Given the description of an element on the screen output the (x, y) to click on. 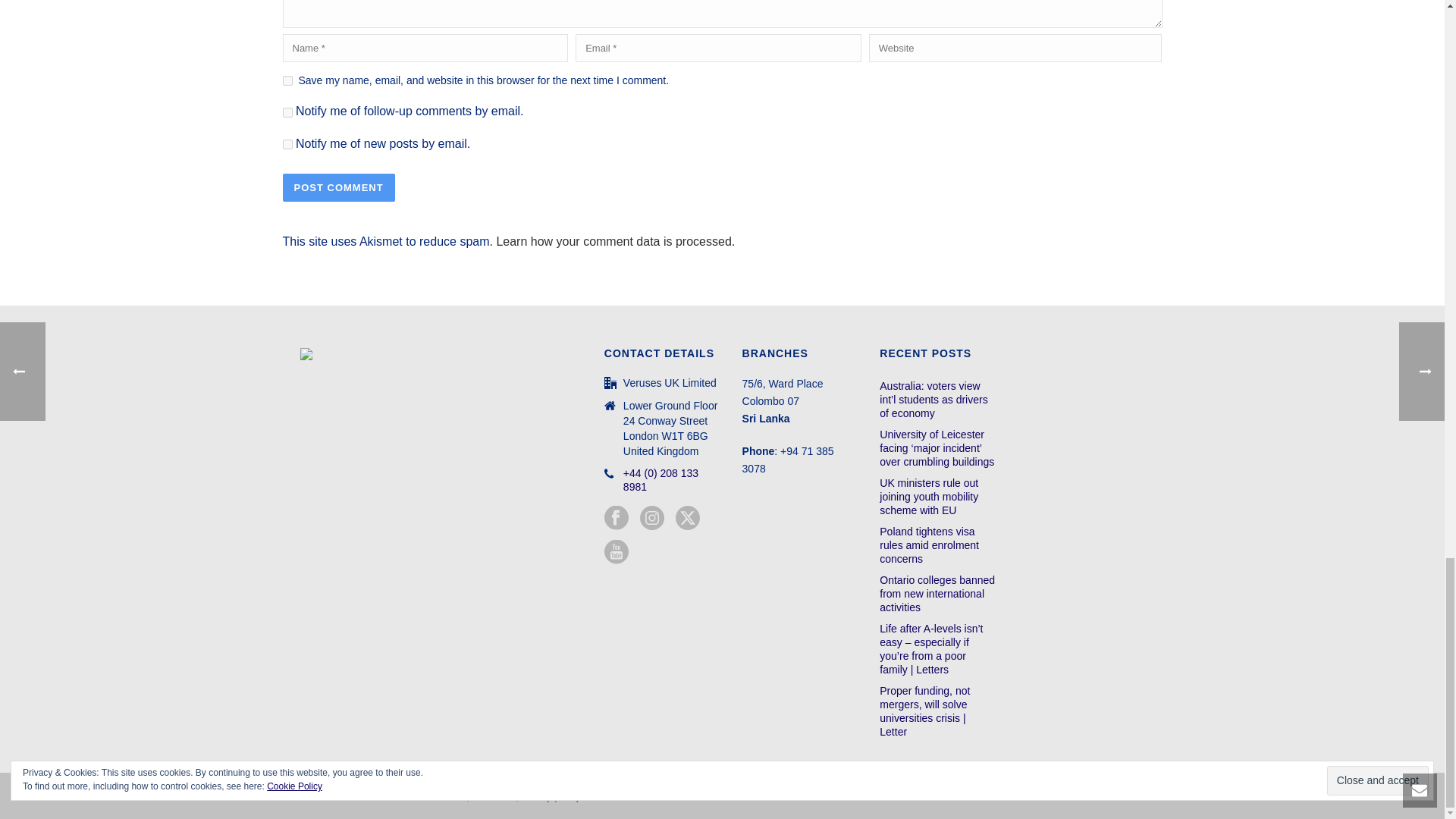
Follow Us on instagram (651, 518)
Follow Us on twitter (687, 518)
yes (287, 80)
Follow Us on youtube (616, 552)
subscribe (287, 144)
Follow Us on facebook (616, 518)
POST COMMENT (338, 187)
subscribe (287, 112)
